Given the description of an element on the screen output the (x, y) to click on. 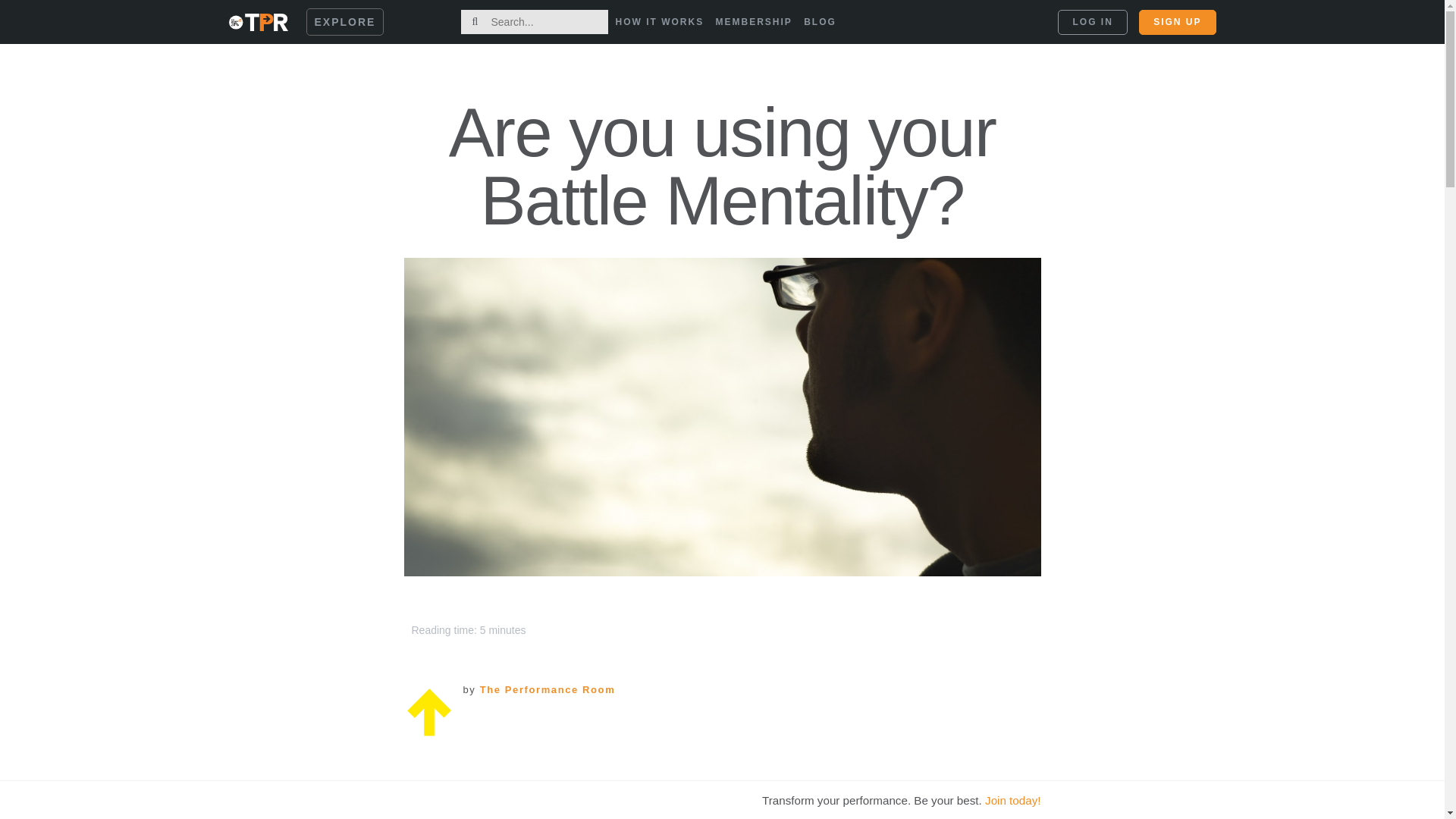
MEMBERSHIP (754, 22)
HOW IT WORKS (659, 22)
EXPLORE (344, 22)
BLOG (819, 22)
